Given the description of an element on the screen output the (x, y) to click on. 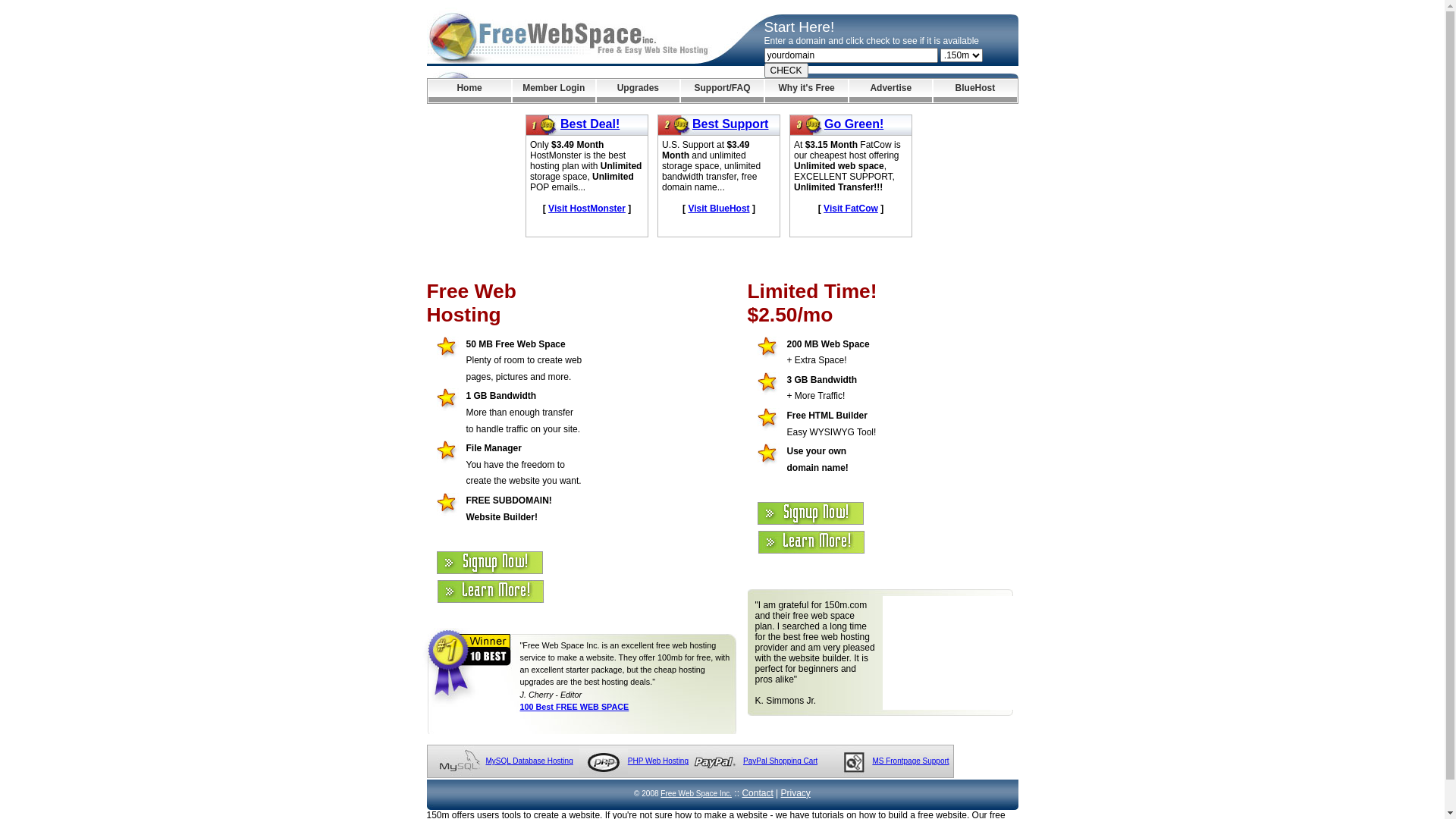
Home Element type: text (468, 90)
Support/FAQ Element type: text (721, 90)
PHP Web Hosting Element type: text (657, 760)
Free Web Space Inc. Element type: text (695, 793)
100 Best FREE WEB SPACE Element type: text (574, 706)
Member Login Element type: text (553, 90)
Upgrades Element type: text (637, 90)
MS Frontpage Support Element type: text (910, 760)
Privacy Element type: text (795, 792)
Contact Element type: text (756, 792)
BlueHost Element type: text (974, 90)
Why it's Free Element type: text (806, 90)
PayPal Shopping Cart Element type: text (780, 760)
CHECK Element type: text (786, 70)
Advertise Element type: text (890, 90)
MySQL Database Hosting Element type: text (528, 760)
